Given the description of an element on the screen output the (x, y) to click on. 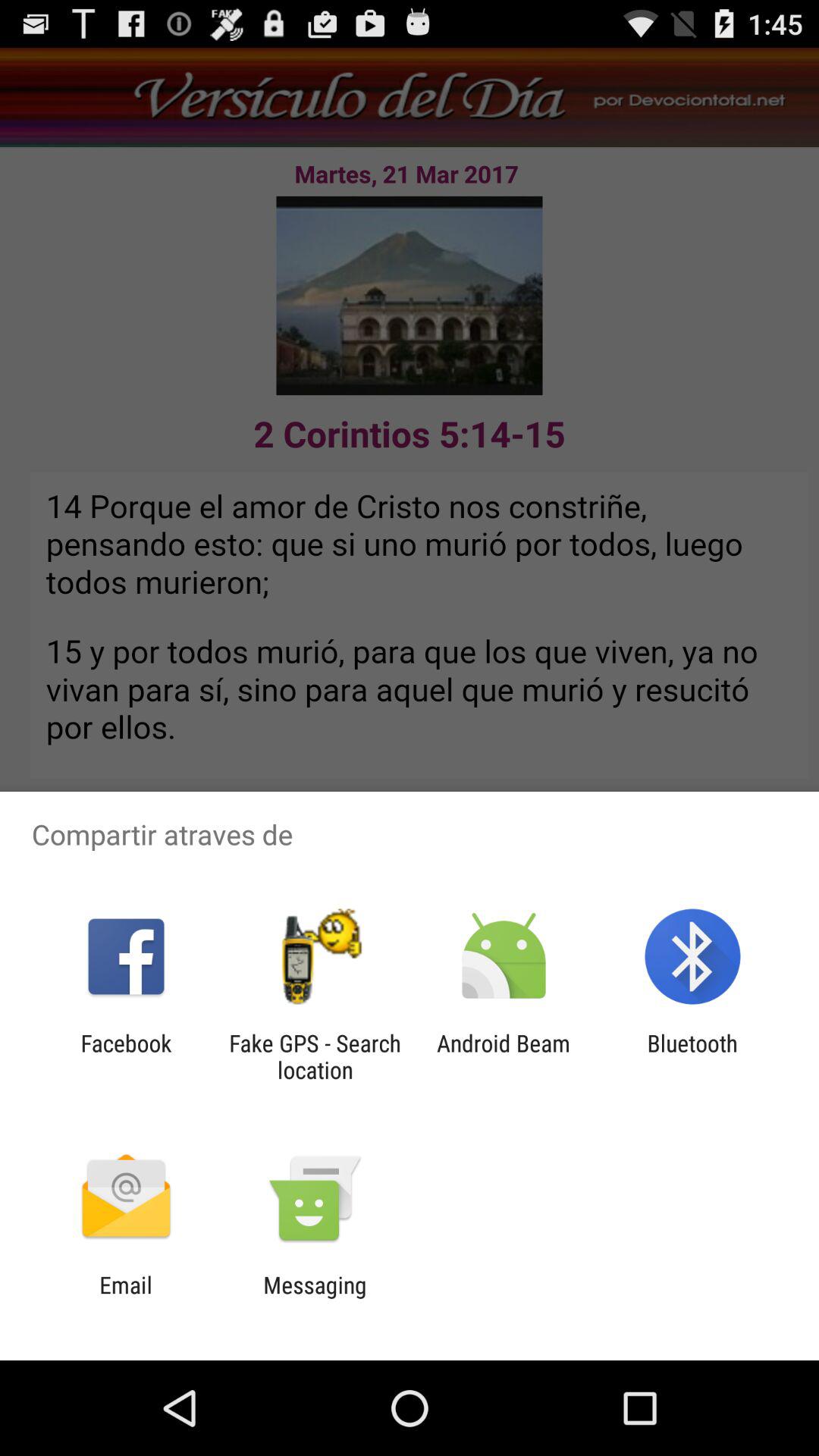
launch the email item (125, 1298)
